Given the description of an element on the screen output the (x, y) to click on. 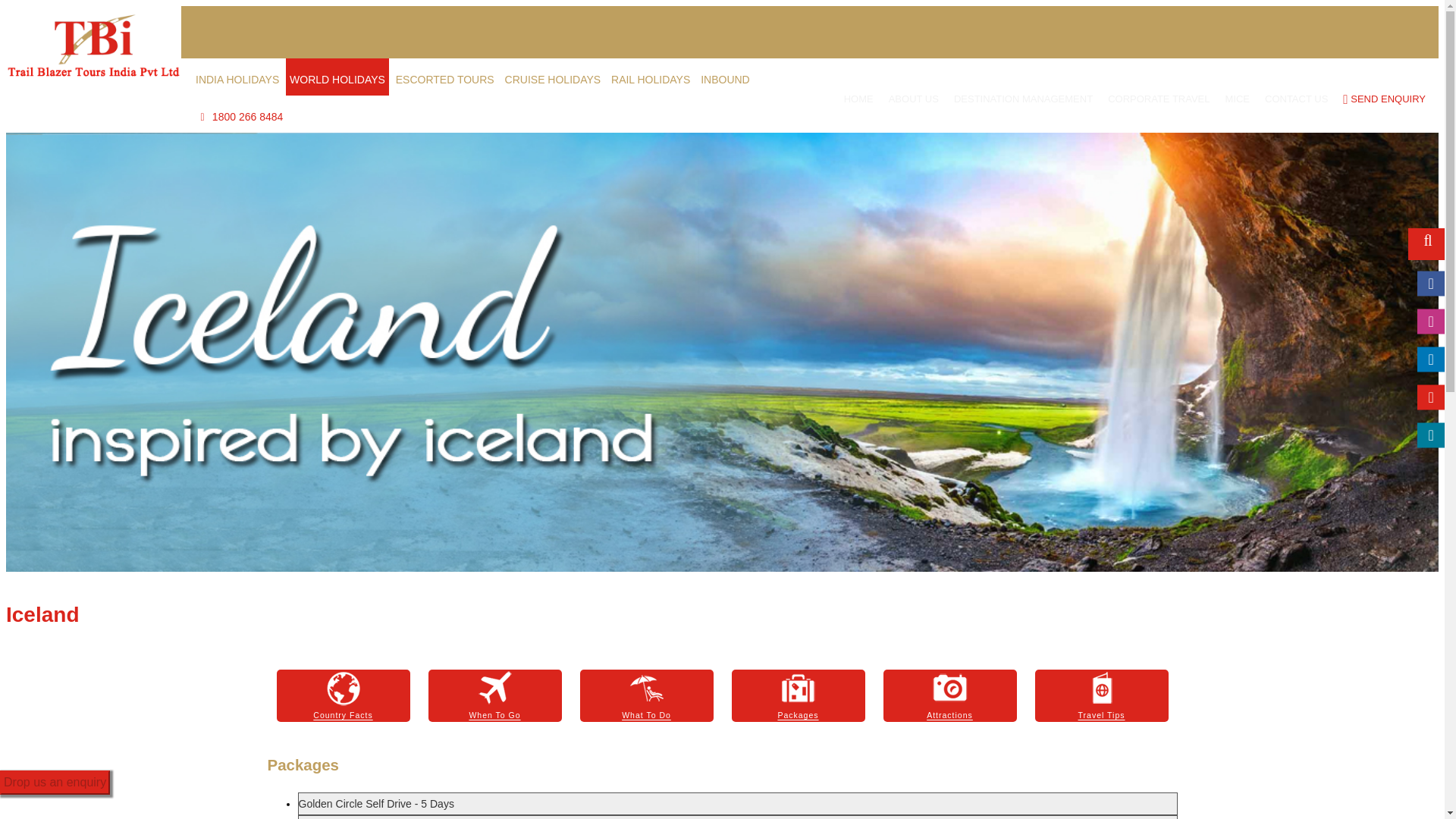
RAIL HOLIDAYS (650, 76)
ABOUT US (913, 98)
DESTINATION MANAGEMENT (1023, 98)
HOME (858, 98)
ESCORTED TOURS (444, 76)
Country Facts (342, 695)
CORPORATE TRAVEL (1158, 98)
Trail Blazer Tours India Pvt Ltd (92, 45)
SEND ENQUIRY (1383, 98)
What To Do (646, 695)
MICE (1237, 98)
CRUISE HOLIDAYS (552, 76)
CONTACT US (1296, 98)
INDIA HOLIDAYS (237, 76)
When To Go (494, 695)
